Given the description of an element on the screen output the (x, y) to click on. 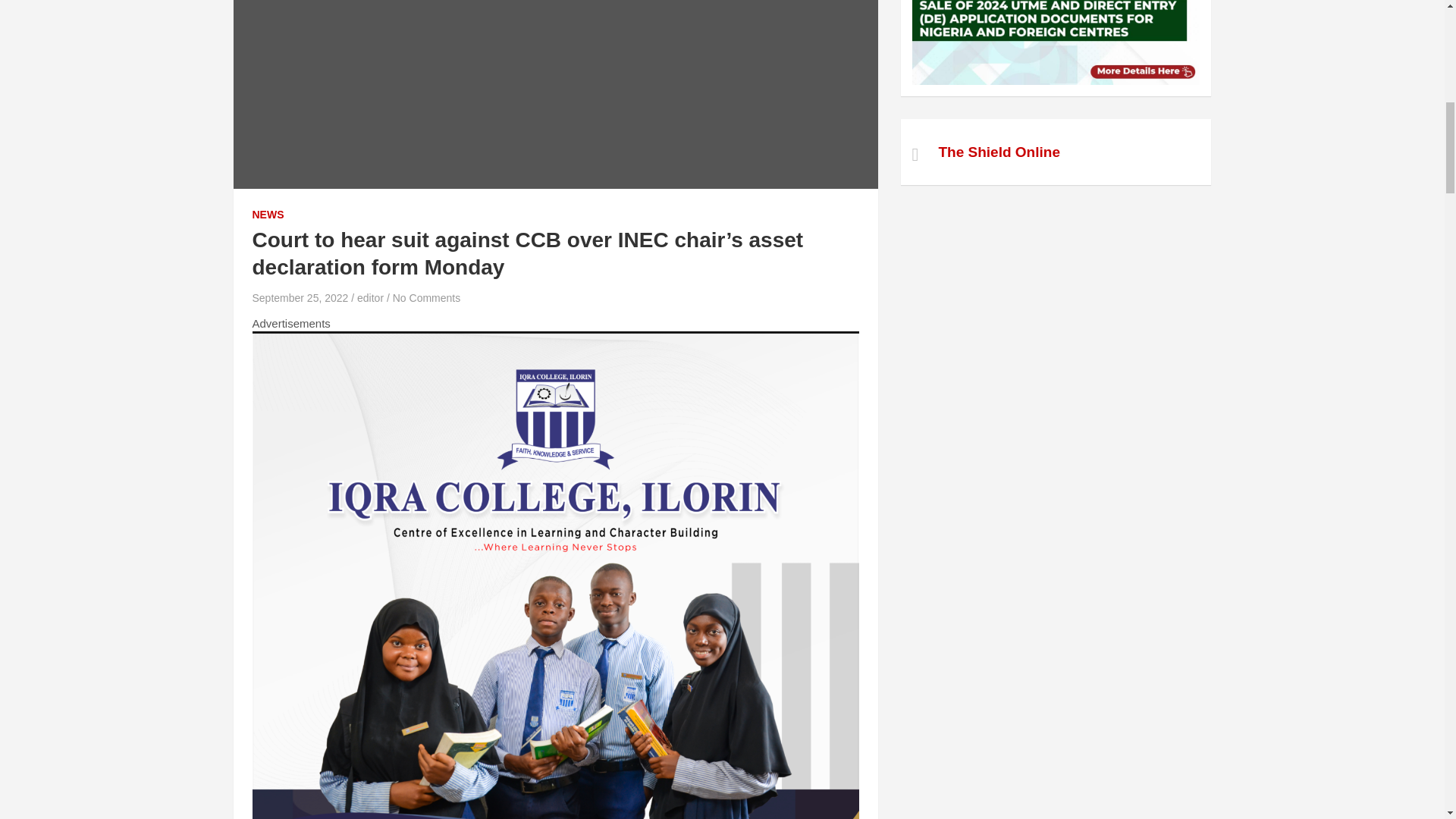
September 25, 2022 (299, 297)
editor (370, 297)
No Comments (426, 297)
NEWS (267, 215)
